Given the description of an element on the screen output the (x, y) to click on. 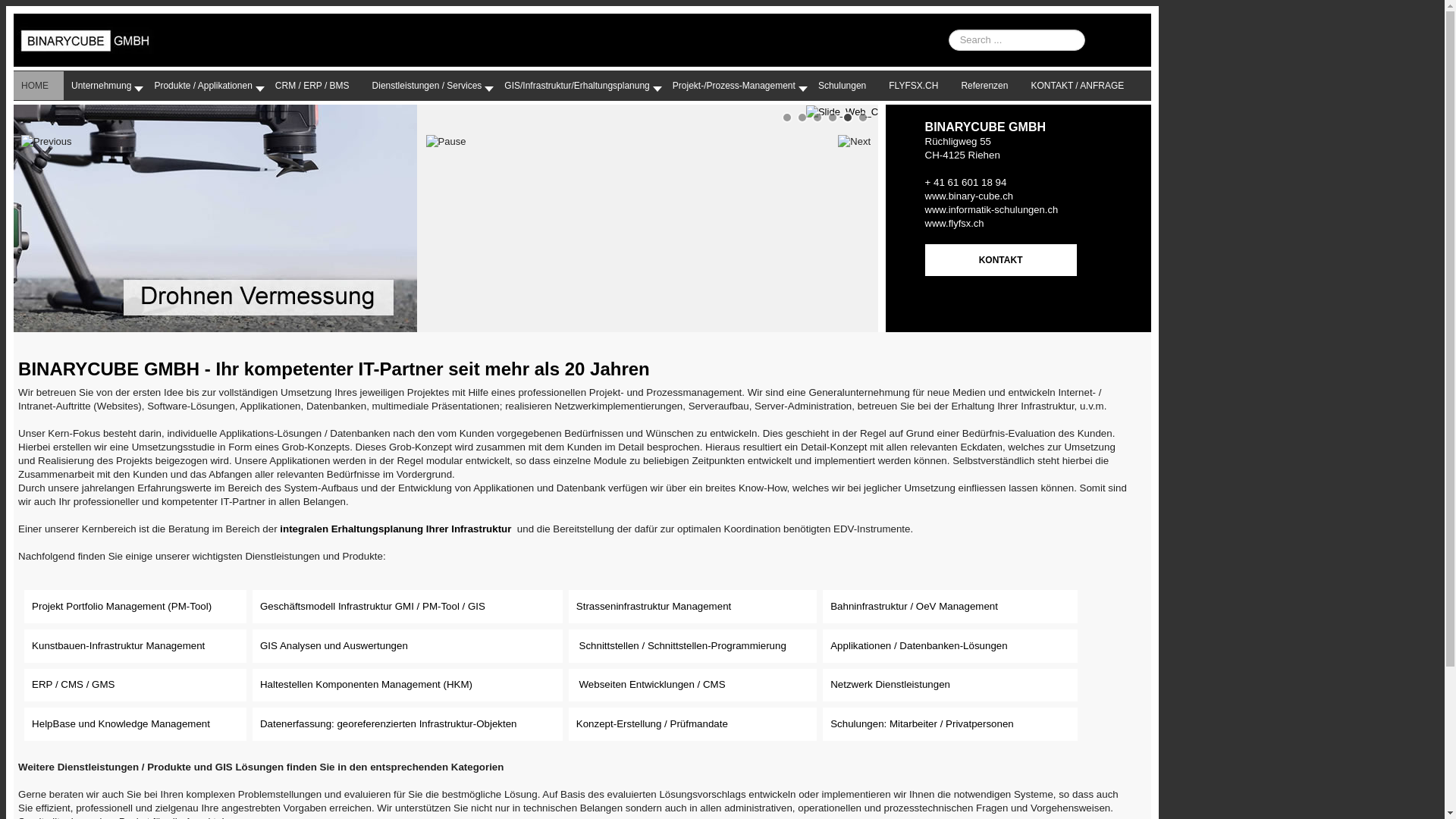
Projekt-/Prozess-Management Element type: text (737, 85)
GIS/Infrastruktur/Erhaltungsplanung Element type: text (580, 85)
Dienstleistungen / Services Element type: text (430, 85)
Haltestellen Komponenten Management (HKM) Element type: text (366, 684)
Webseiten Entwicklungen / CMS Element type: text (652, 684)
KONTAKT Element type: text (1000, 260)
www.binary-cube.ch Element type: text (969, 195)
Schnittstellen / Schnittstellen-Programmierung Element type: text (682, 645)
HelpBase und Knowledge Management Element type: text (120, 723)
Netzwerk Dienstleistungen Element type: text (890, 684)
CRM / ERP / BMS Element type: text (315, 85)
Referenzen Element type: text (987, 85)
Unternehmung Element type: text (104, 85)
Kunstbauen-Infrastruktur Management Element type: text (117, 645)
www.flyfsx.ch Element type: text (954, 223)
Produkte / Applikationen Element type: text (206, 85)
GIS Analysen und Auswertungen Element type: text (333, 645)
Schulungen: Mitarbeiter / Privatpersonen Element type: text (921, 723)
Schulungen Element type: text (845, 85)
integralen Erhaltungsplanung Ihrer Infrastruktur Element type: text (395, 528)
ERP / CMS / GMS Element type: text (72, 684)
Strasseninfrastruktur Management Element type: text (653, 605)
HOME Element type: text (38, 85)
www.informatik-schulungen.ch Element type: text (991, 209)
Projekt Portfolio Management (PM-Tool) Element type: text (121, 605)
Datenerfassung: georeferenzierten Infrastruktur-Objekten Element type: text (388, 723)
KONTAKT / ANFRAGE Element type: text (1080, 85)
Bahninfrastruktur / OeV Management Element type: text (913, 605)
FLYFSX.CH Element type: text (917, 85)
